Given the description of an element on the screen output the (x, y) to click on. 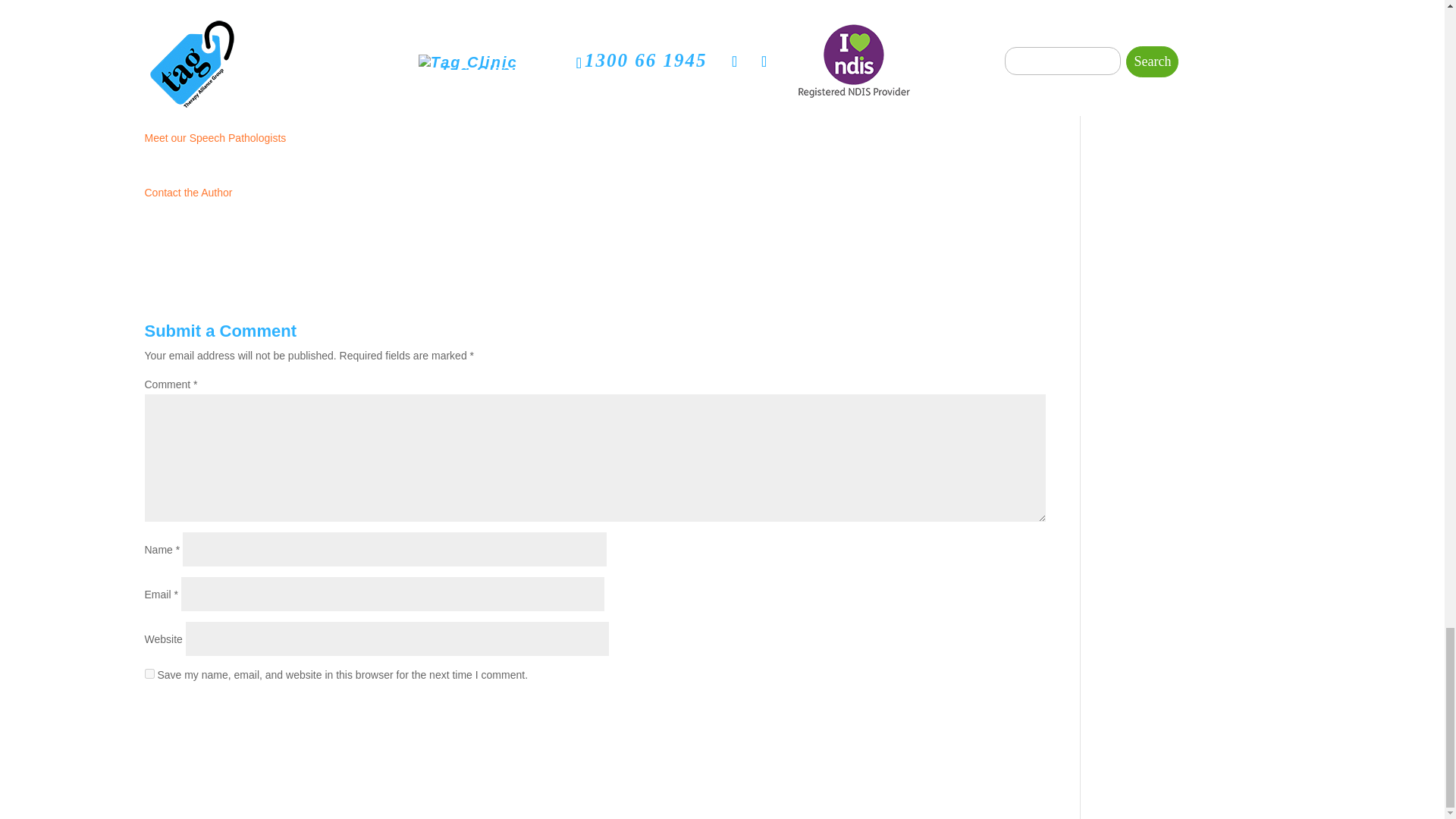
yes (149, 673)
